Given the description of an element on the screen output the (x, y) to click on. 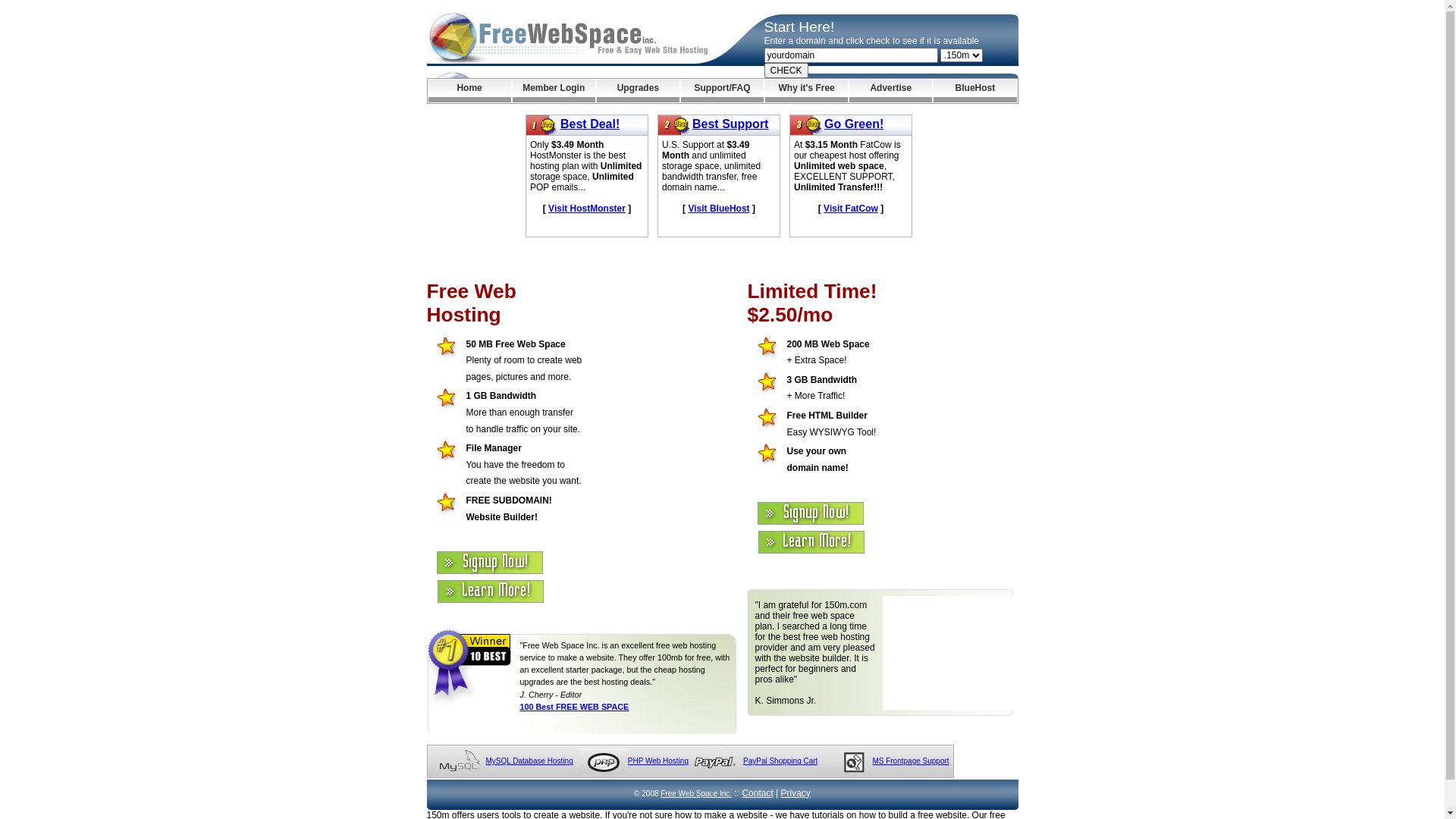
Support/FAQ Element type: text (721, 90)
PayPal Shopping Cart Element type: text (780, 760)
Home Element type: text (468, 90)
Advertise Element type: text (890, 90)
Why it's Free Element type: text (806, 90)
MySQL Database Hosting Element type: text (528, 760)
Free Web Space Inc. Element type: text (695, 793)
Member Login Element type: text (553, 90)
BlueHost Element type: text (974, 90)
Privacy Element type: text (795, 792)
Upgrades Element type: text (637, 90)
CHECK Element type: text (786, 70)
MS Frontpage Support Element type: text (910, 760)
PHP Web Hosting Element type: text (657, 760)
Contact Element type: text (756, 792)
100 Best FREE WEB SPACE Element type: text (574, 706)
